Given the description of an element on the screen output the (x, y) to click on. 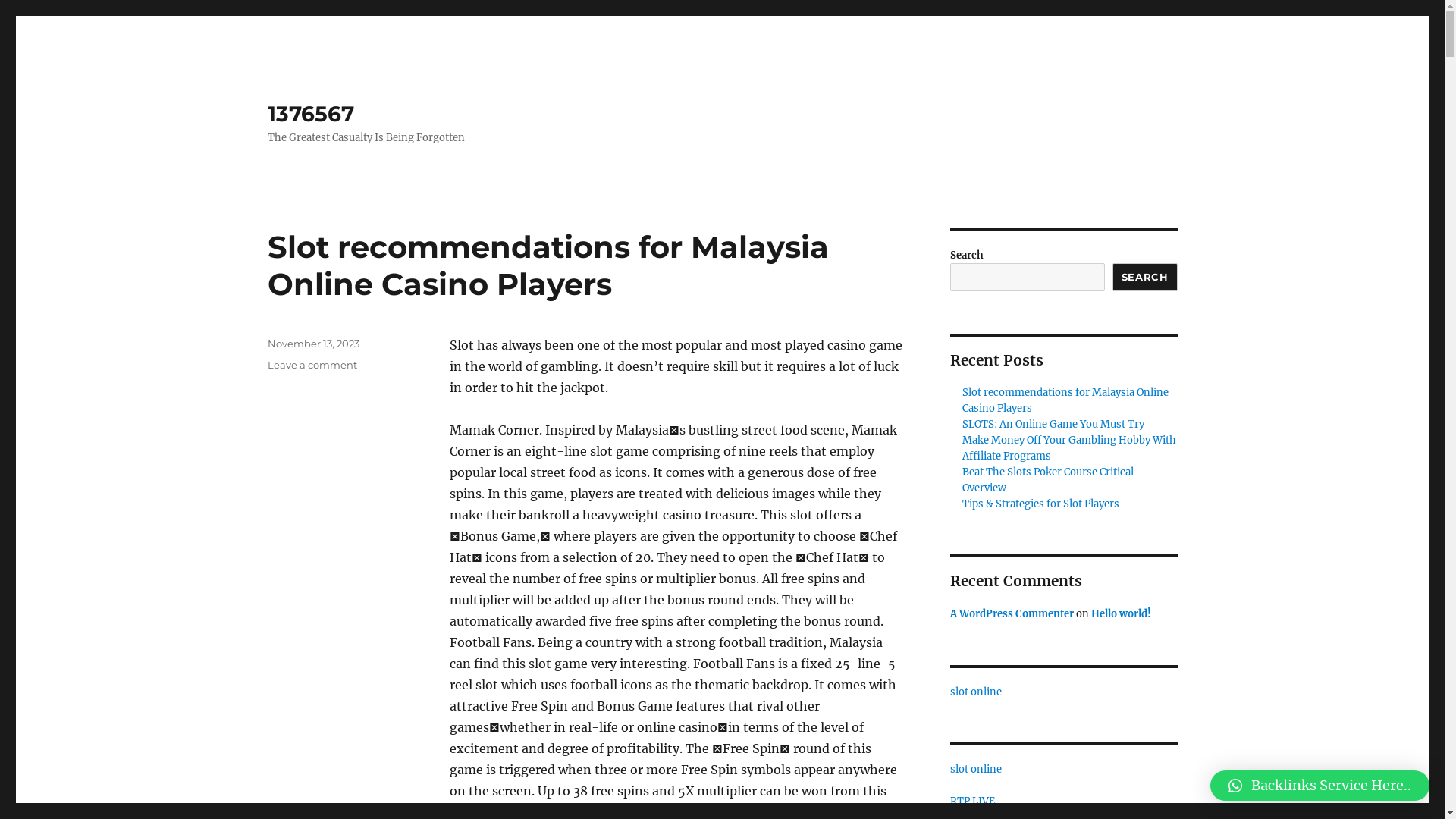
November 13, 2023 Element type: text (312, 343)
SLOTS: An Online Game You Must Try Element type: text (1053, 423)
Beat The Slots Poker Course Critical Overview Element type: text (1047, 479)
Tips & Strategies for Slot Players Element type: text (1040, 503)
Backlinks Service Here.. Element type: text (1319, 785)
RTP LIVE Element type: text (971, 800)
Make Money Off Your Gambling Hobby With Affiliate Programs Element type: text (1069, 447)
A WordPress Commenter Element type: text (1011, 613)
Slot recommendations for Malaysia Online Casino Players Element type: text (1065, 399)
1376567 Element type: text (309, 113)
SEARCH Element type: text (1144, 277)
slot online Element type: text (975, 768)
slot online Element type: text (975, 691)
Slot recommendations for Malaysia Online Casino Players Element type: text (547, 265)
Hello world! Element type: text (1120, 613)
